Given the description of an element on the screen output the (x, y) to click on. 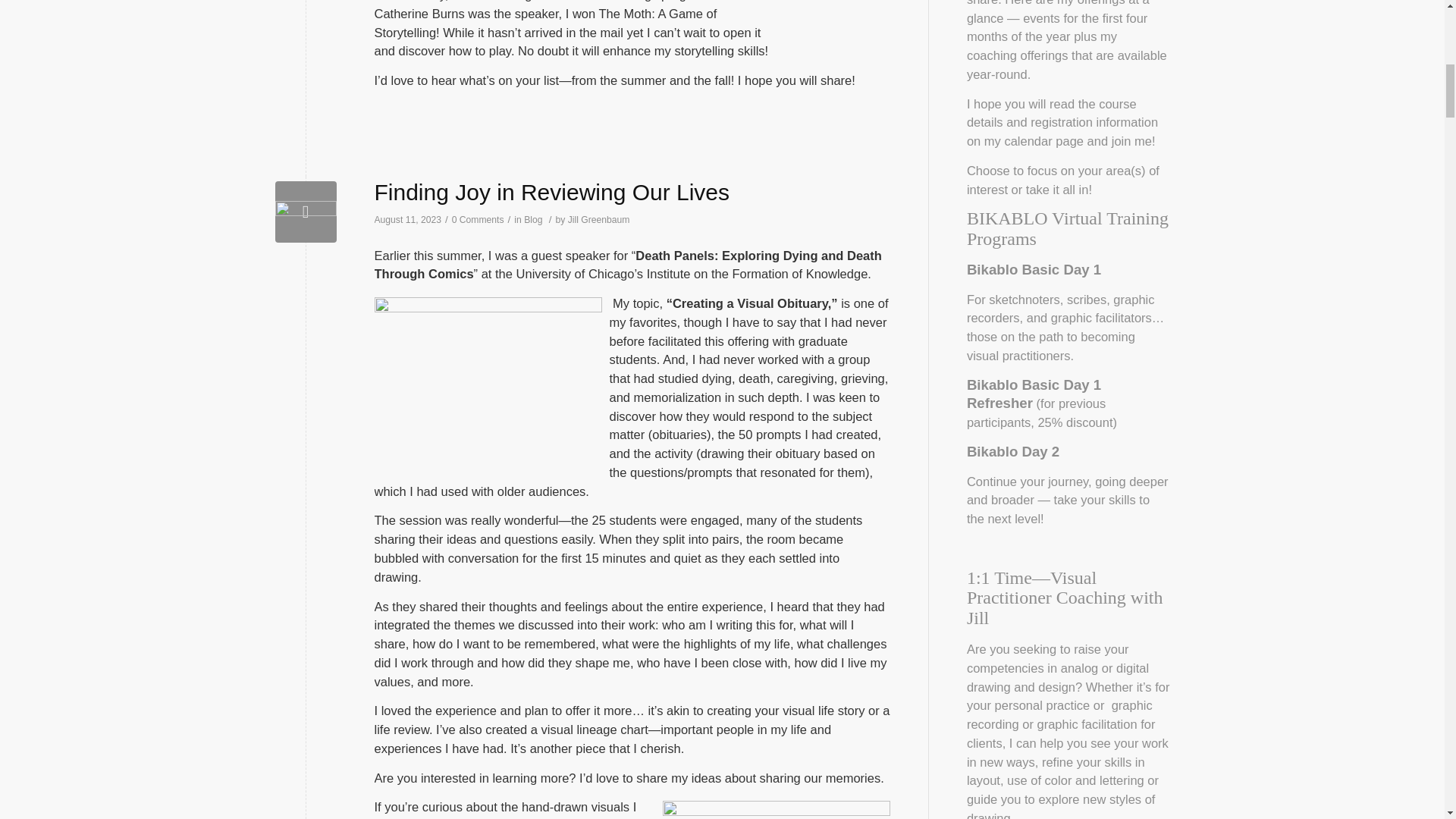
Finding Joy in Reviewing Our Lives (552, 191)
0 Comments (477, 219)
Finding Joy in Reviewing Our Lives (305, 211)
Posts by Jill Greenbaum (598, 219)
Blog (532, 219)
Jill Greenbaum (598, 219)
Permanent Link: Finding Joy in Reviewing Our Lives (552, 191)
